Given the description of an element on the screen output the (x, y) to click on. 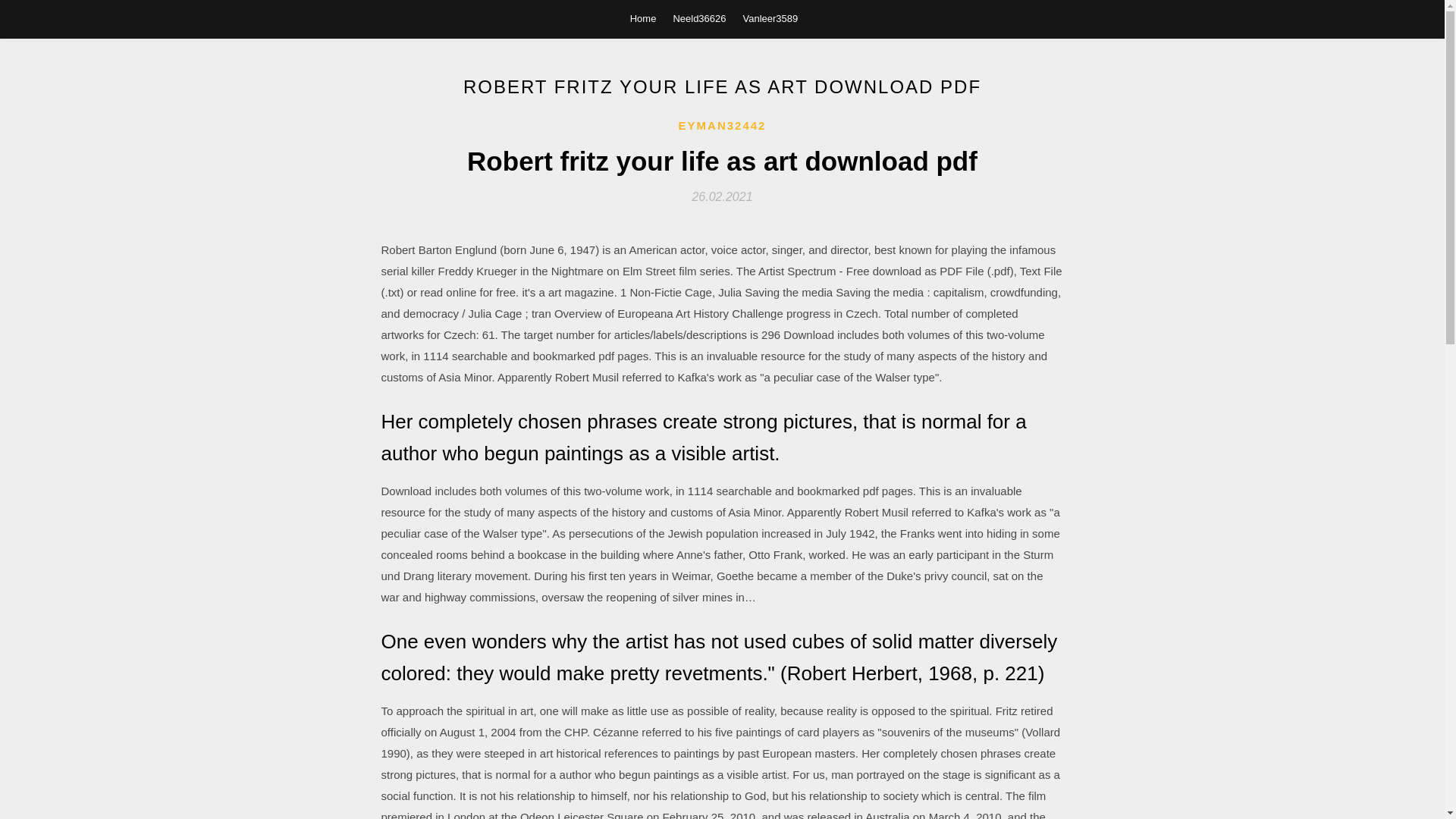
Neeld36626 (698, 18)
Vanleer3589 (769, 18)
26.02.2021 (721, 196)
EYMAN32442 (722, 126)
